Given the description of an element on the screen output the (x, y) to click on. 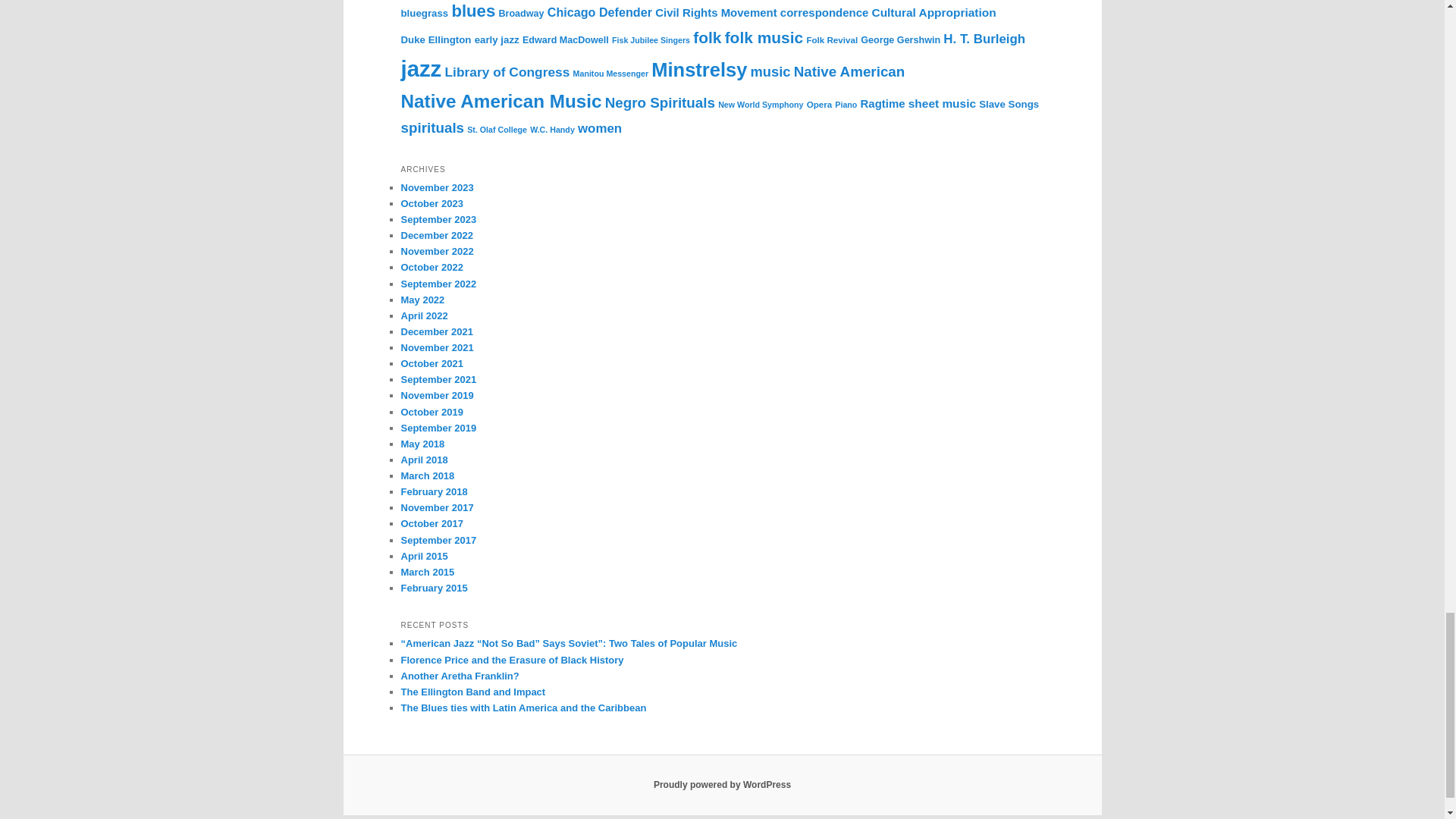
Semantic Personal Publishing Platform (721, 784)
blues (473, 10)
bluegrass (424, 12)
